Given the description of an element on the screen output the (x, y) to click on. 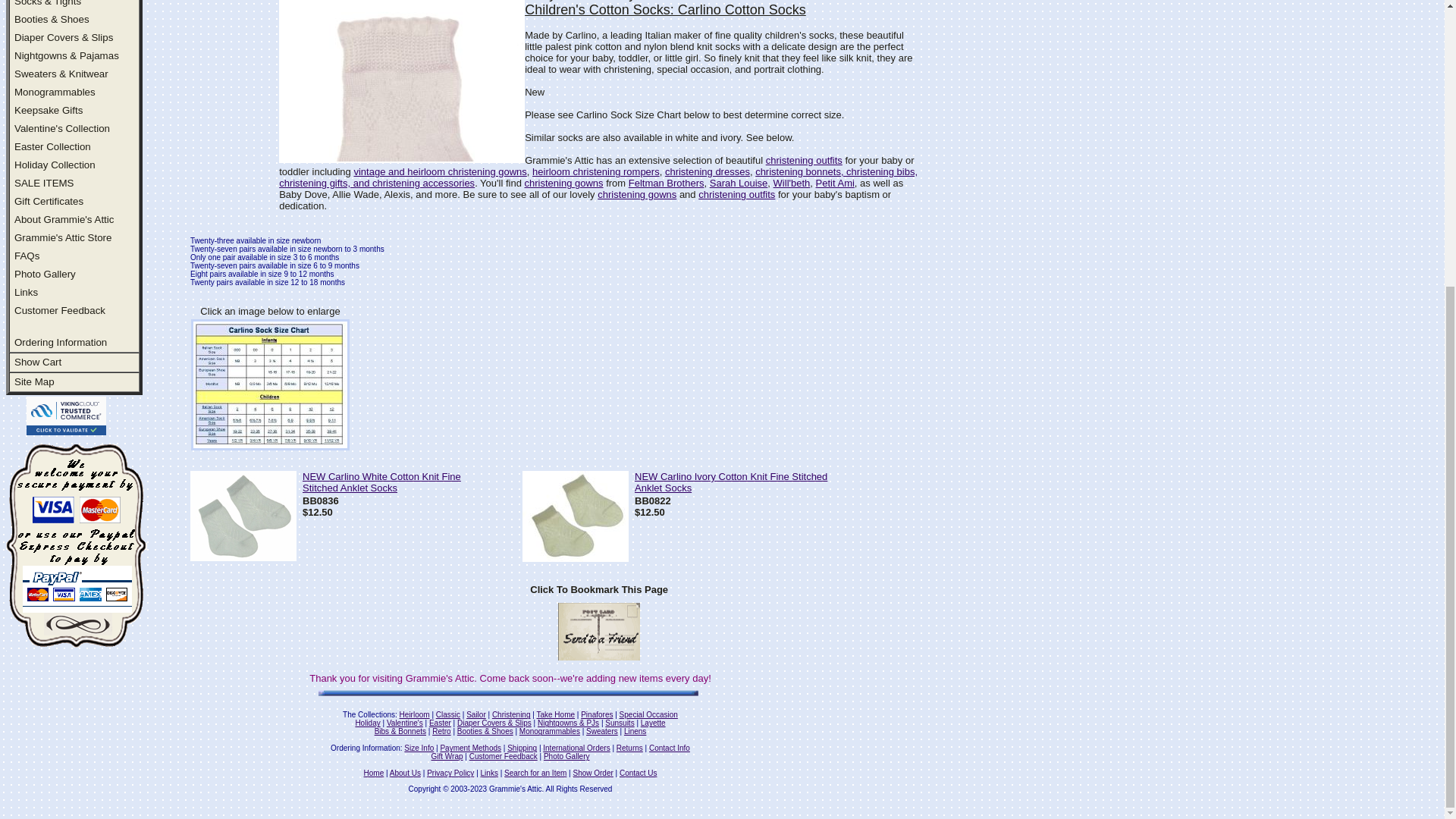
About Grammie's Attic (63, 219)
Customer Feedback (59, 310)
NEW Carlino White Cotton Knit Fine Stitched Anklet Socks (243, 556)
Show Cart (37, 361)
Monogrammables (55, 91)
FAQs (26, 255)
SALE ITEMS (44, 183)
Grammie's Attic Store (63, 237)
NEW Carlino Ivory Cotton Knit Fine Stitched Anklet Socks (575, 557)
Gift Certificates (48, 201)
Easter Collection (52, 146)
Valentine's Collection (62, 128)
Ordering Information (60, 342)
Holiday Collection (55, 164)
